Given the description of an element on the screen output the (x, y) to click on. 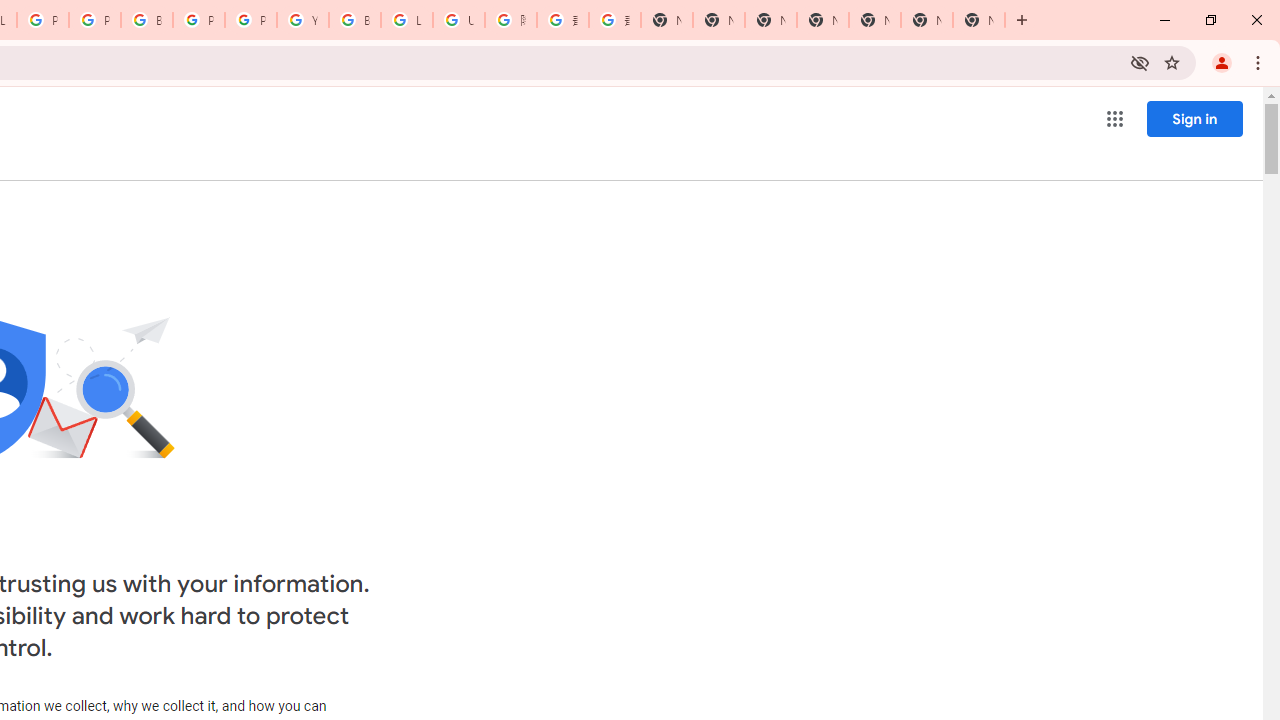
YouTube (302, 20)
New Tab (666, 20)
